Given the description of an element on the screen output the (x, y) to click on. 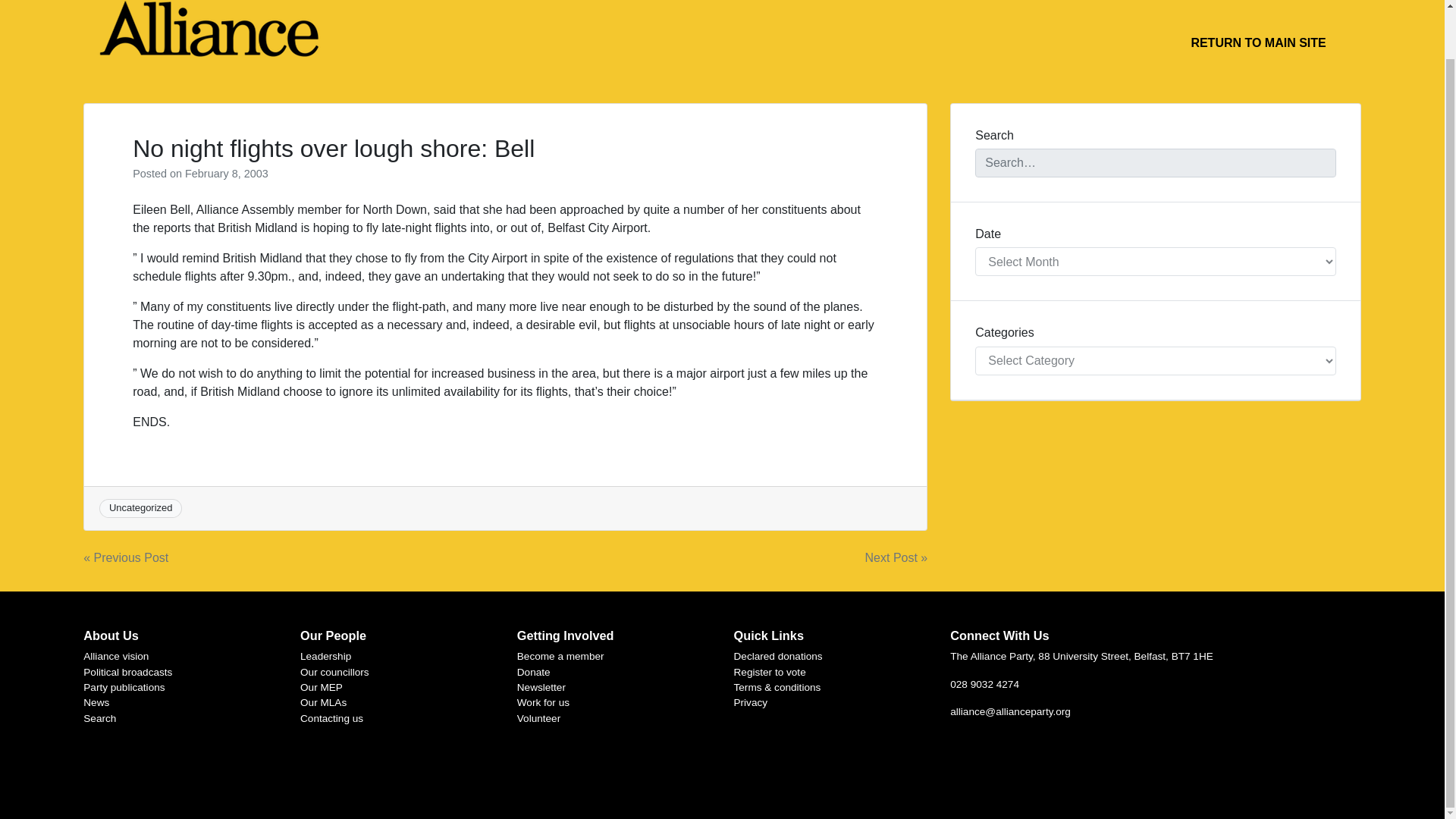
Contacting us (330, 717)
028 9032 4274 (984, 684)
Newsletter (541, 686)
Party publications (123, 686)
Volunteer (538, 717)
News (95, 702)
February 8, 2003 (225, 173)
Political broadcasts (126, 672)
Donate (533, 672)
Alliance vision (115, 655)
